Given the description of an element on the screen output the (x, y) to click on. 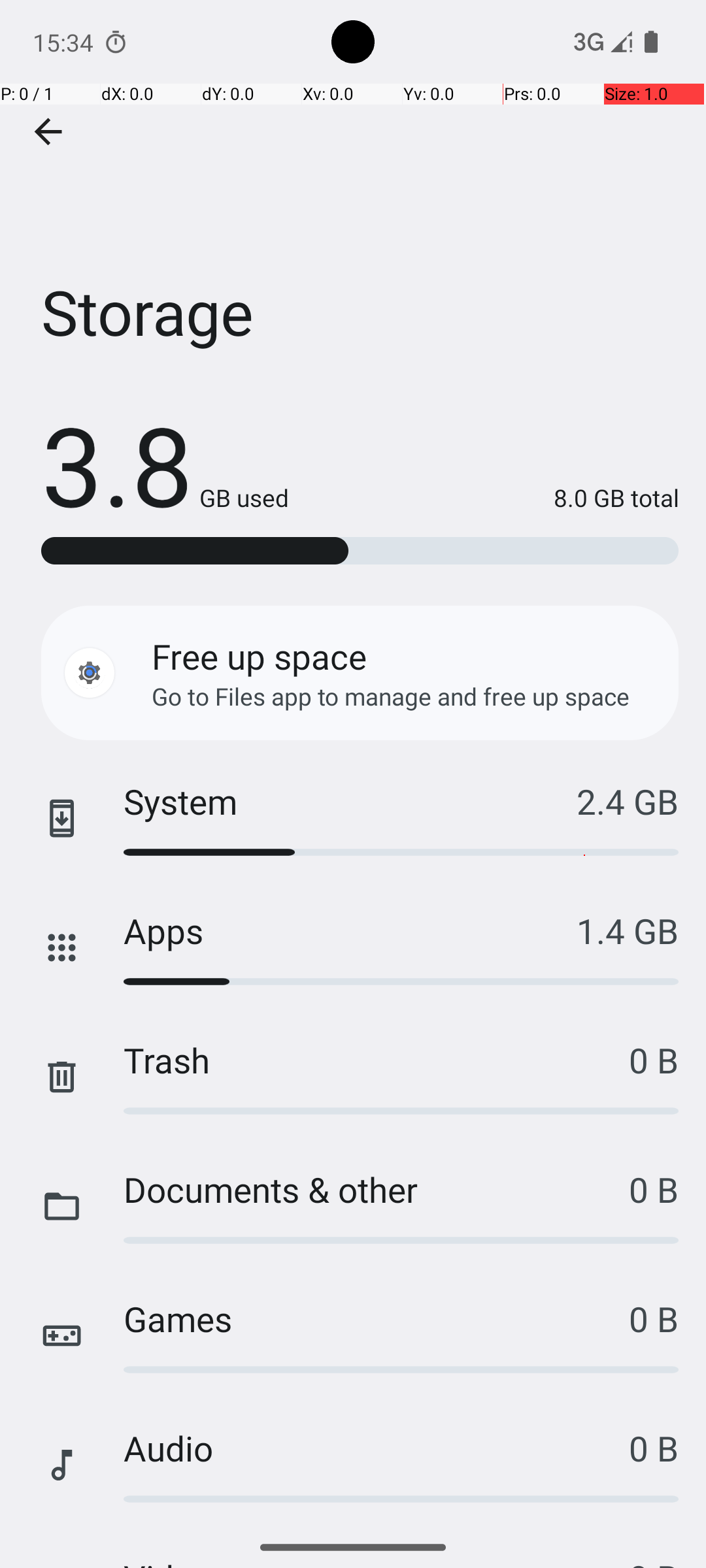
3.8 GB used Element type: android.widget.TextView (164, 463)
2.4 GB Element type: android.widget.TextView (627, 801)
